Given the description of an element on the screen output the (x, y) to click on. 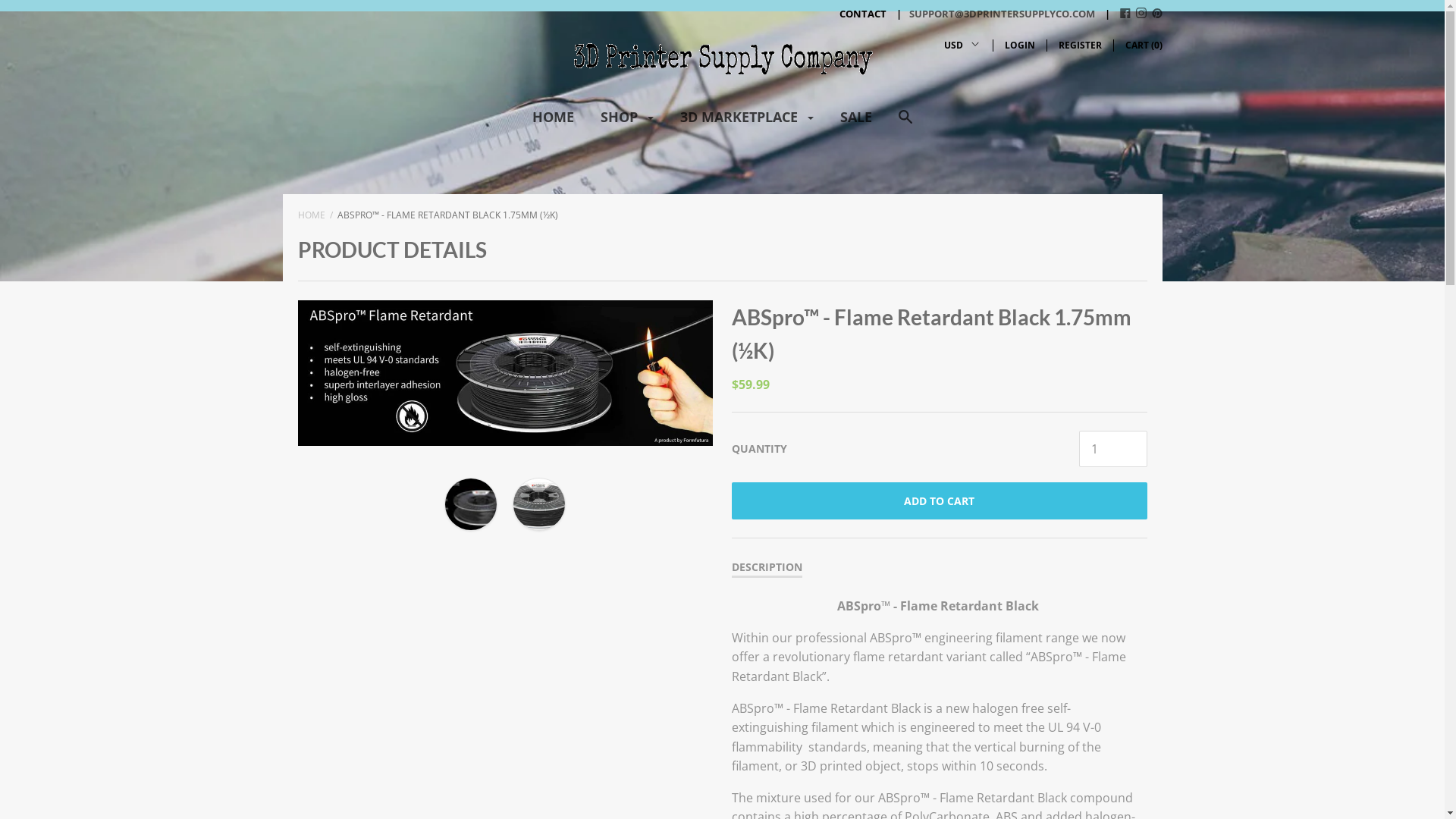
Search Element type: hover (905, 123)
Instagram Element type: text (1140, 14)
SALE Element type: text (856, 122)
Facebook Element type: text (1124, 14)
Pinterest Element type: text (1156, 14)
REGISTER Element type: text (1079, 44)
LOGIN Element type: text (1019, 44)
SHOP Element type: text (626, 122)
HOME Element type: text (310, 214)
SUPPORT@3DPRINTERSUPPLYCO.COM Element type: text (991, 13)
ADD TO CART Element type: text (939, 500)
CART (0) Element type: text (1143, 44)
HOME Element type: text (553, 122)
3D MARKETPLACE Element type: text (746, 122)
